Given the description of an element on the screen output the (x, y) to click on. 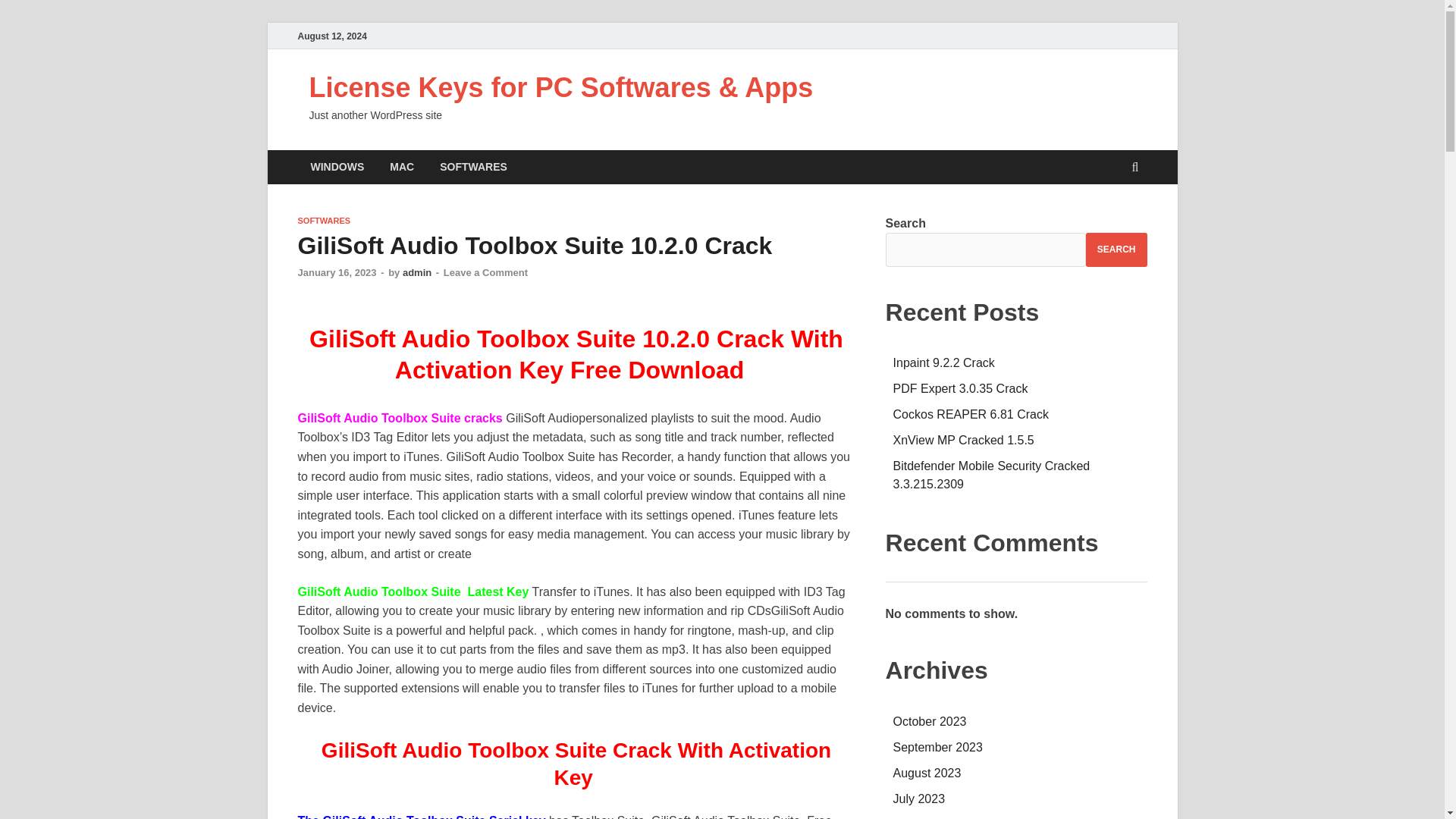
MAC (401, 166)
WINDOWS (337, 166)
SEARCH (1116, 249)
admin (416, 272)
Inpaint 9.2.2 Crack (943, 362)
SOFTWARES (472, 166)
GiliSoft Audio Toolbox Suite cracks (399, 418)
January 16, 2023 (336, 272)
SOFTWARES (323, 220)
Leave a Comment (485, 272)
